Given the description of an element on the screen output the (x, y) to click on. 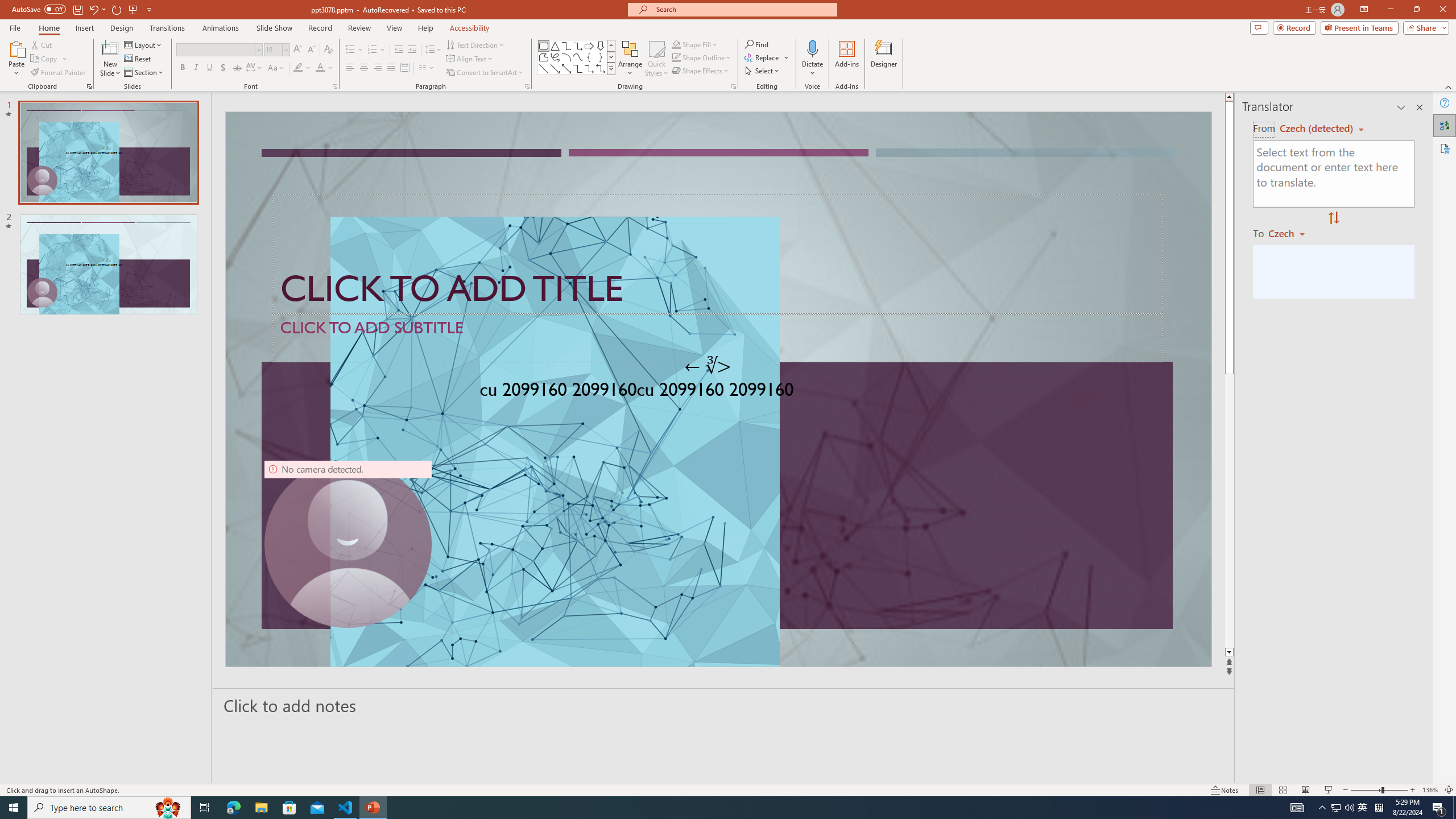
Subtitle TextBox (717, 337)
